Given the description of an element on the screen output the (x, y) to click on. 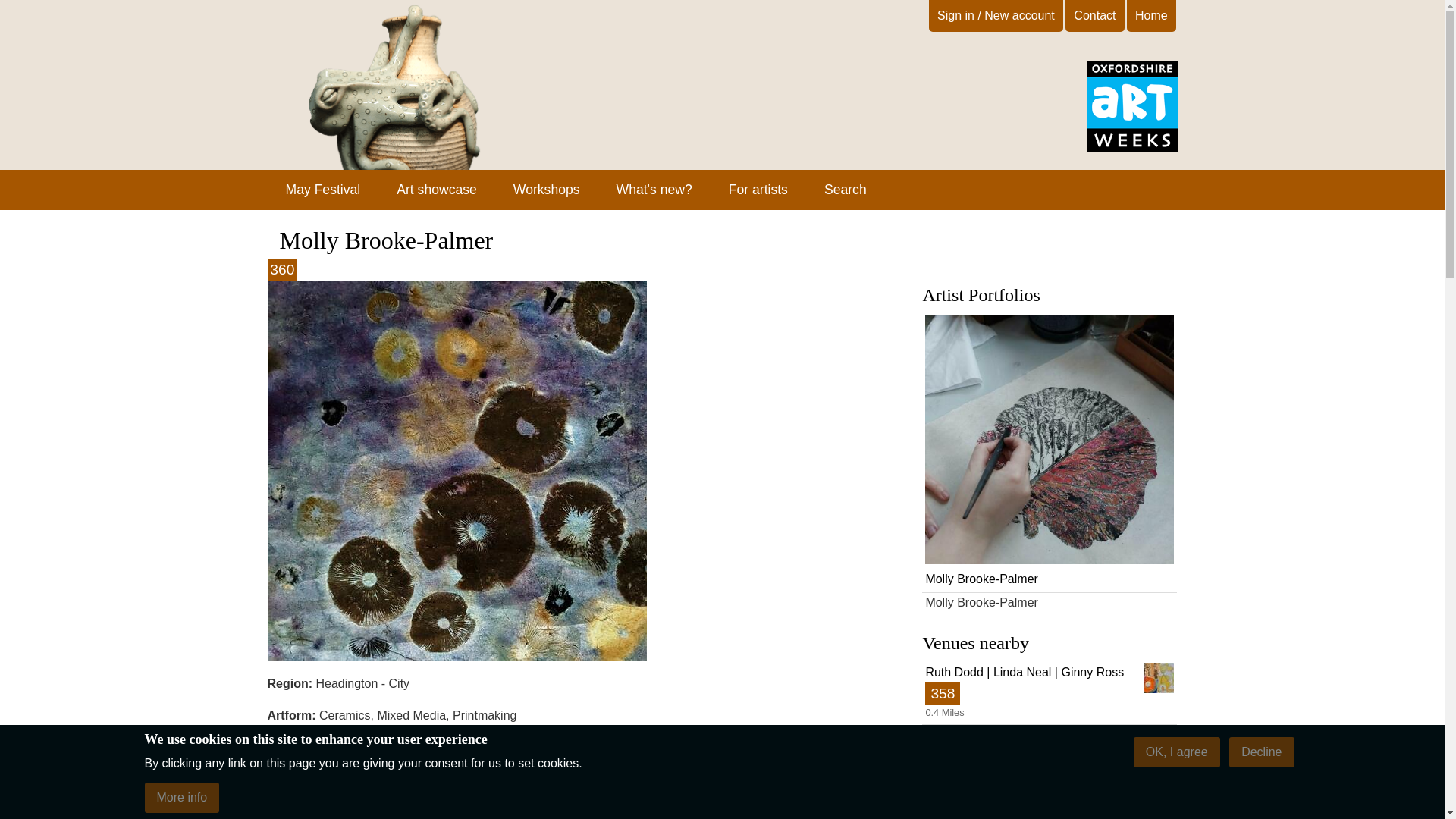
For artists (758, 189)
Art showcase (436, 189)
Home (1151, 15)
May Festival (1048, 757)
Home (322, 189)
Molly Brooke-Palmer (1048, 804)
Contact (1131, 146)
Sign in to your Artweeks account (1048, 452)
